Given the description of an element on the screen output the (x, y) to click on. 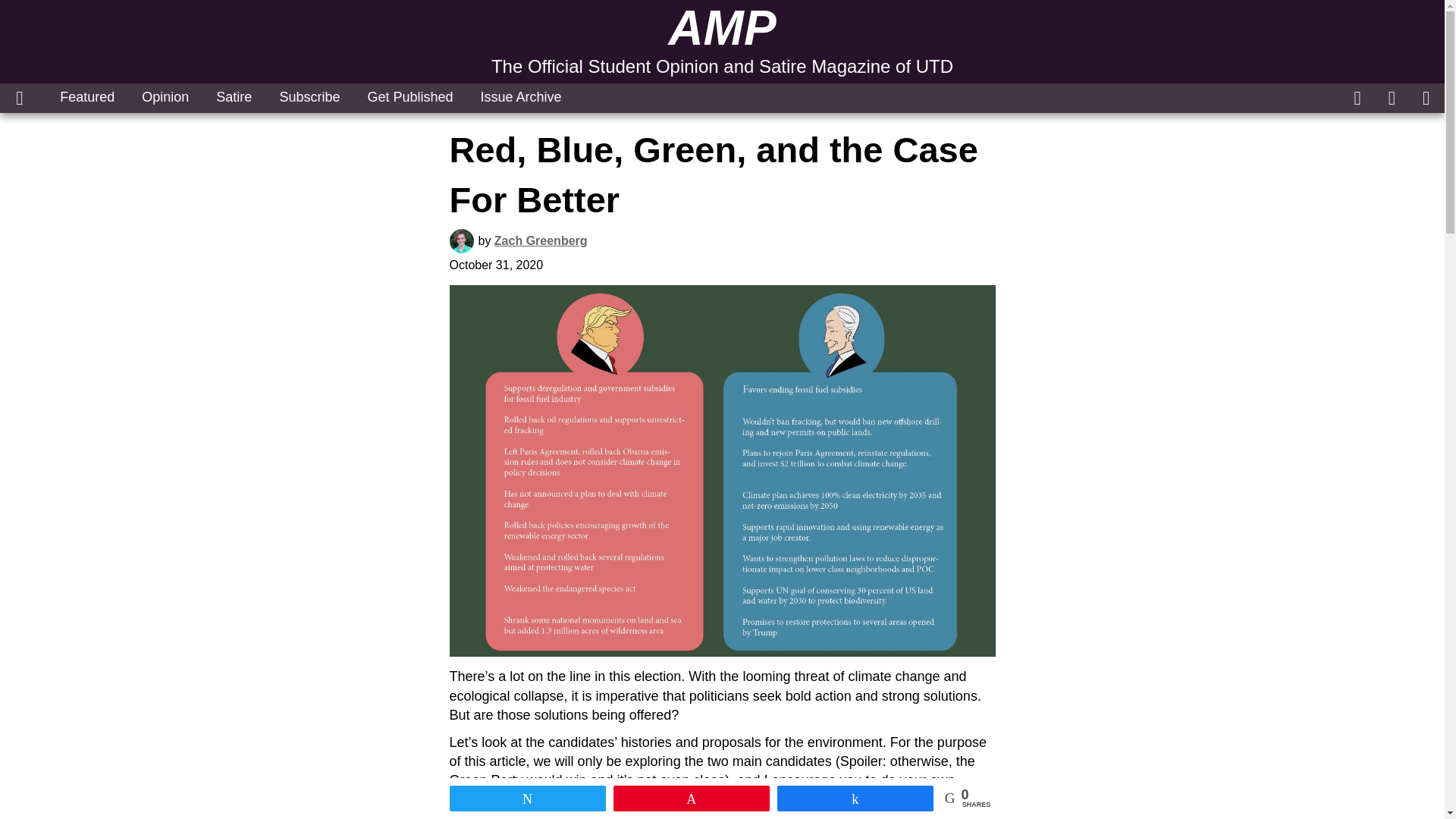
Subscribe (308, 97)
Satire (233, 97)
Issue Archive (521, 97)
Zach Greenberg (541, 240)
Get Published (409, 97)
Opinion (165, 97)
AMP (722, 27)
Featured (87, 97)
